Given the description of an element on the screen output the (x, y) to click on. 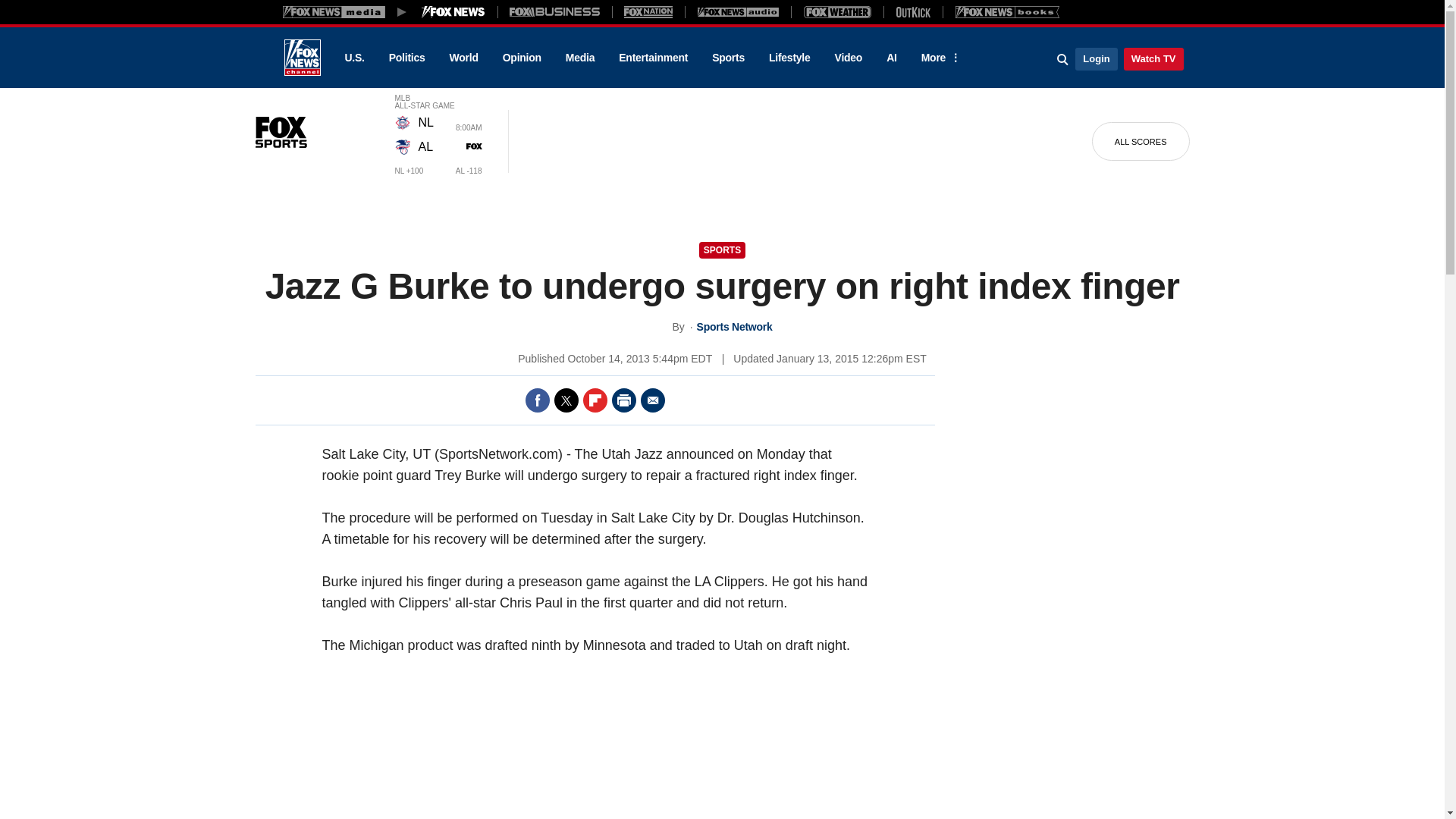
Media (580, 57)
Fox News Media (453, 11)
Lifestyle (789, 57)
Fox Weather (836, 11)
Video (848, 57)
Politics (407, 57)
World (464, 57)
U.S. (353, 57)
Sports (728, 57)
Opinion (521, 57)
Entertainment (653, 57)
Fox News (301, 57)
Fox News Audio (737, 11)
AI (891, 57)
Books (1007, 11)
